Given the description of an element on the screen output the (x, y) to click on. 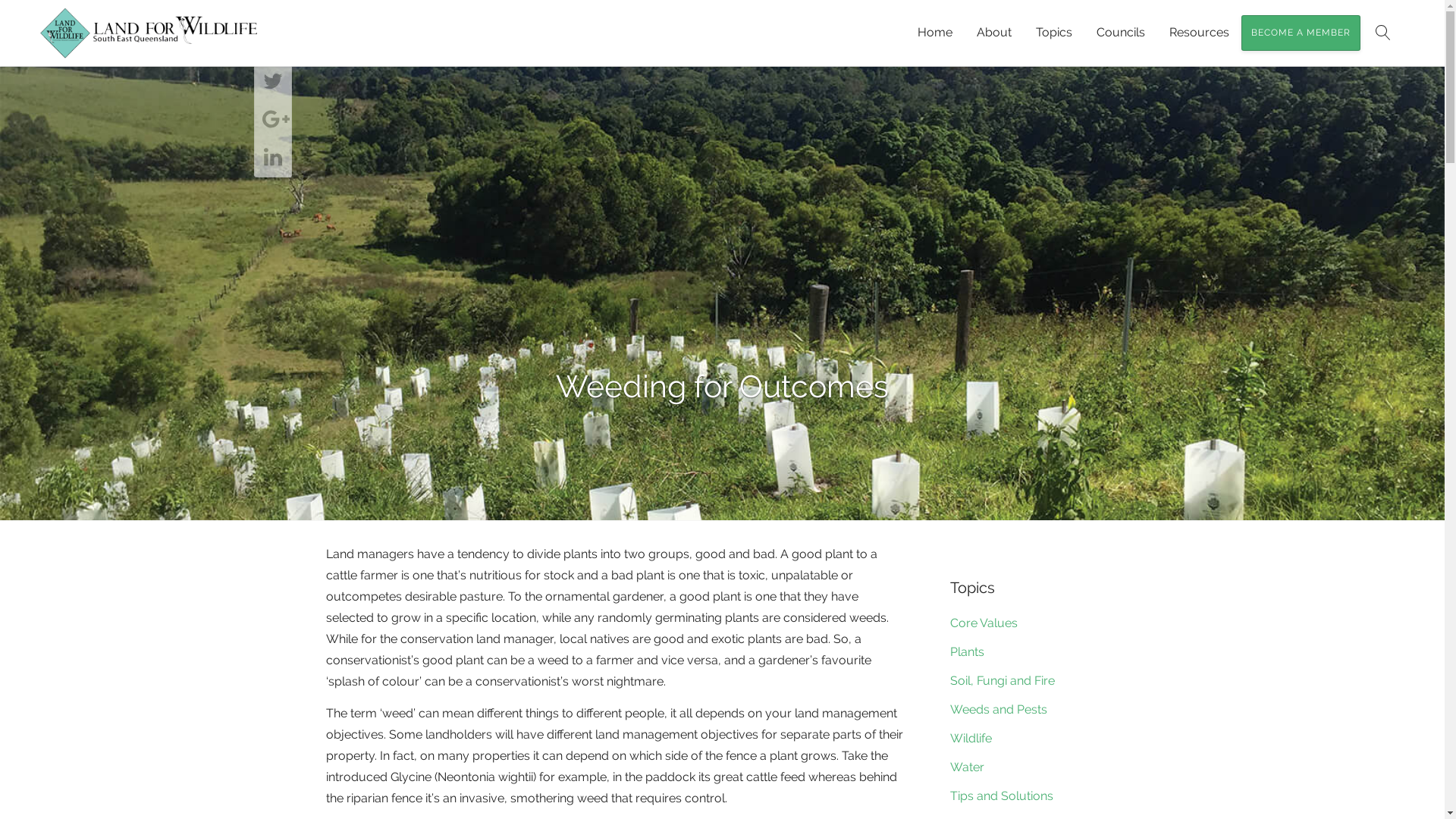
Core Values Element type: text (983, 622)
Water Element type: text (967, 766)
Land for Wildlife Element type: hover (147, 32)
Soil, Fungi and Fire Element type: text (1002, 680)
Plants Element type: text (967, 651)
Resources Element type: text (1199, 32)
Topics Element type: text (1053, 32)
About Element type: text (993, 32)
Weeds and Pests Element type: text (998, 709)
Wildlife Element type: text (970, 738)
Councils Element type: text (1120, 32)
Share on Facebook Element type: hover (272, 43)
Search Element type: text (1382, 32)
Home Element type: text (934, 32)
Share on Google+ Element type: hover (272, 119)
Share on Twitter Element type: hover (272, 81)
Tips and Solutions Element type: text (1001, 795)
Share on Linkedin Element type: hover (272, 157)
BECOME A MEMBER Element type: text (1300, 32)
